Given the description of an element on the screen output the (x, y) to click on. 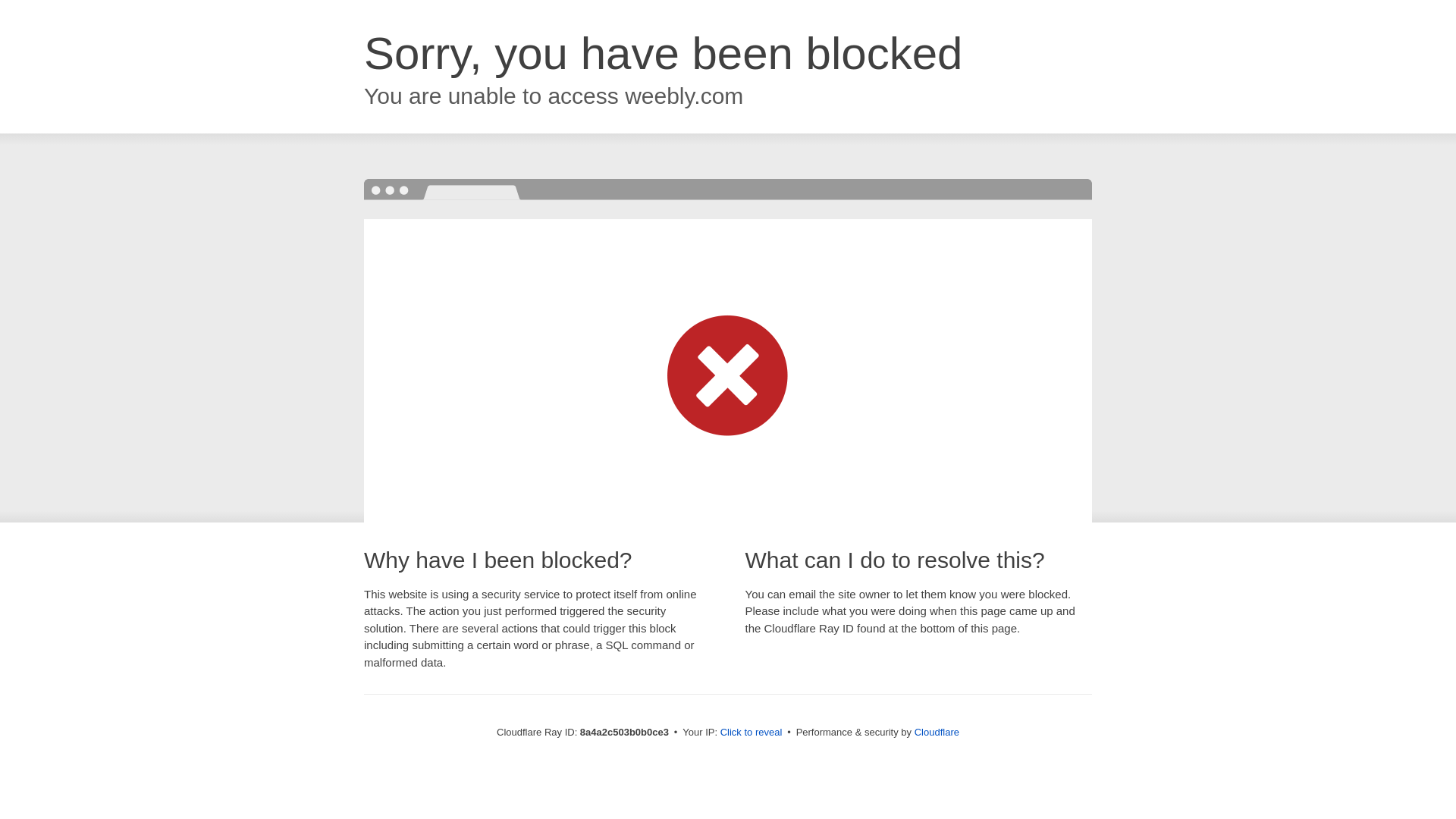
Cloudflare (936, 731)
Click to reveal (751, 732)
